Given the description of an element on the screen output the (x, y) to click on. 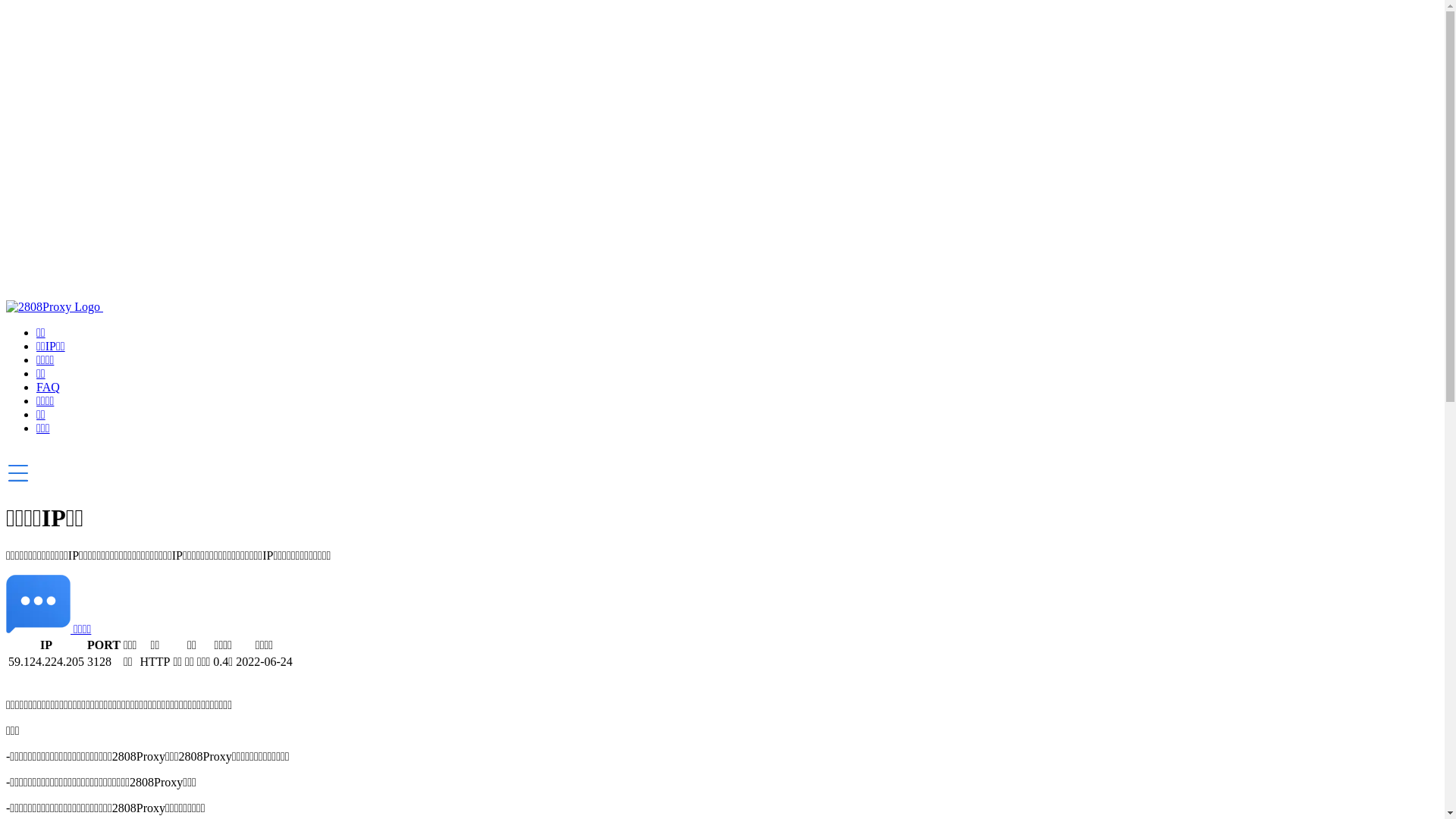
FAQ Element type: text (47, 386)
